Given the description of an element on the screen output the (x, y) to click on. 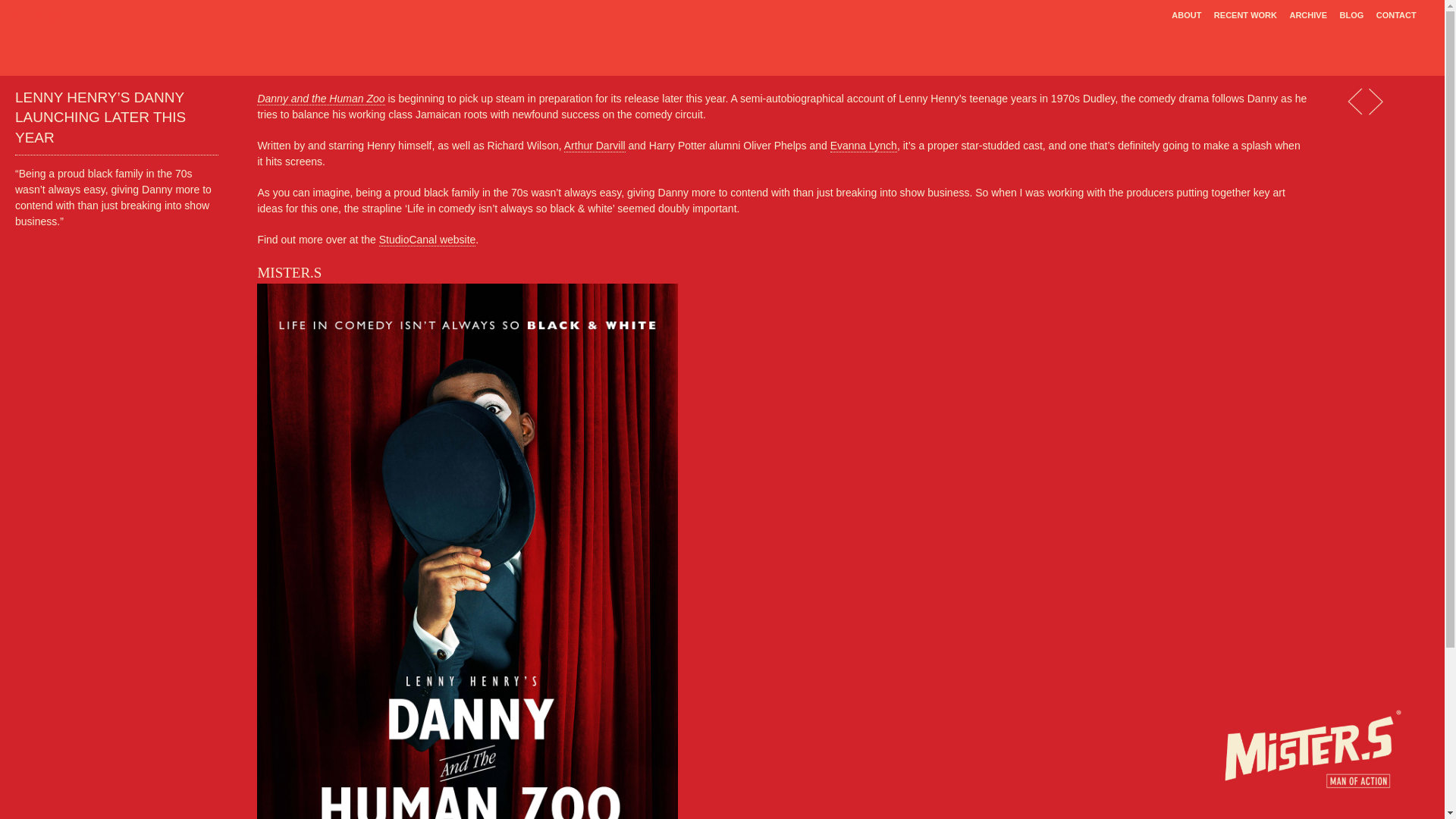
BLOG (1351, 15)
ARCHIVE (1307, 15)
Arthur Darvill (595, 145)
ABOUT (1187, 15)
Danny and the Human Zoo (320, 98)
RECENT WORK (1246, 15)
StudioCanal website (427, 239)
Evanna Lynch (862, 145)
CONTACT (1396, 15)
